Given the description of an element on the screen output the (x, y) to click on. 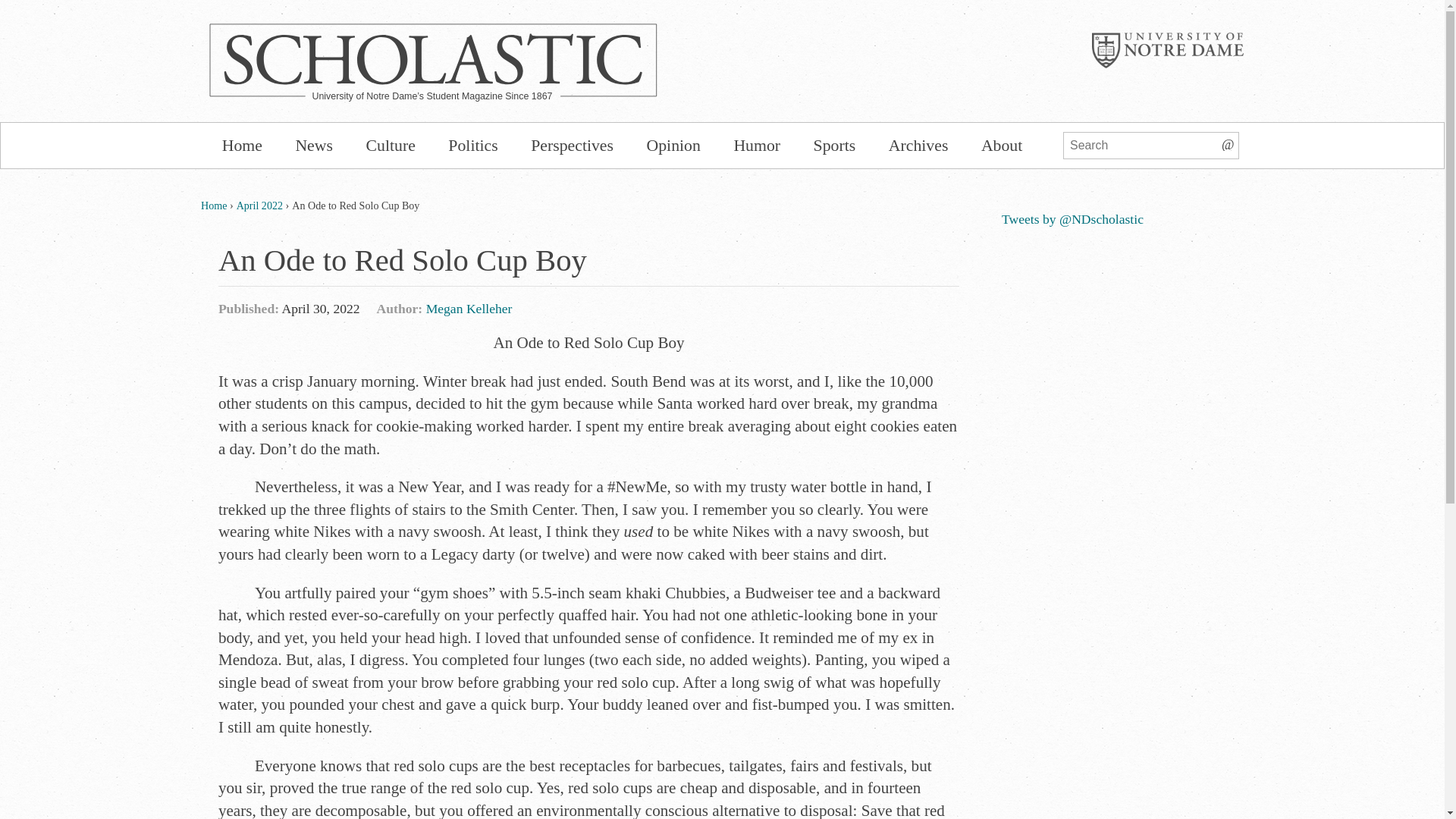
April 2022 (258, 205)
Search (1228, 141)
Humor (756, 144)
About (1001, 144)
Opinion (673, 144)
Home (242, 144)
University of Notre Dame (1167, 49)
Culture (390, 144)
Scholastic (433, 57)
Perspectives (570, 144)
Politics (473, 144)
Archives (917, 144)
News (314, 144)
Home (213, 205)
Sports (834, 144)
